Given the description of an element on the screen output the (x, y) to click on. 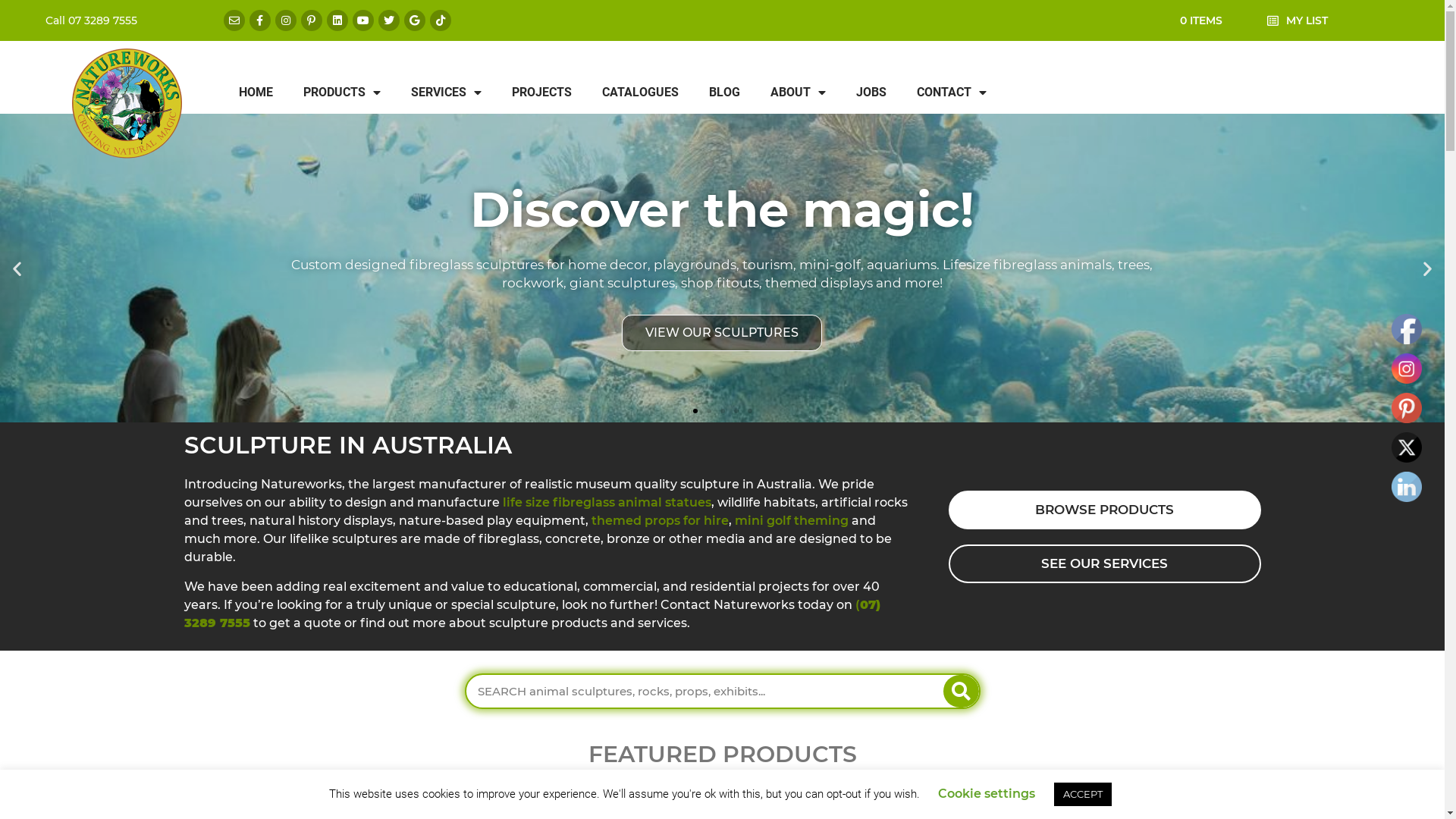
07) 3289 7555 Element type: text (531, 613)
mini golf theming Element type: text (790, 520)
PROJECTS Element type: text (541, 92)
CONTACT Element type: text (951, 92)
SEE OUR SERVICES Element type: text (1103, 563)
( Element type: text (857, 604)
ACCEPT Element type: text (1082, 794)
themed props for hire Element type: text (659, 520)
Facebook Element type: hover (1406, 328)
MY LIST Element type: text (1306, 20)
VIEW OUR SCULPTURES Element type: text (721, 332)
BROWSE PRODUCTS Element type: text (1103, 509)
0 ITEMS Element type: text (1200, 20)
life size fibreglass animal statues Element type: text (606, 502)
ABOUT Element type: text (797, 92)
LinkedIn Element type: hover (1406, 486)
Call 07 3289 7555 Element type: text (126, 20)
BLOG Element type: text (724, 92)
Instagram Element type: hover (1406, 368)
SERVICES Element type: text (445, 92)
Twitter Element type: hover (1406, 447)
HOME Element type: text (255, 92)
PRODUCTS Element type: text (341, 92)
CATALOGUES Element type: text (639, 92)
Pinterest Element type: hover (1406, 407)
JOBS Element type: text (870, 92)
Cookie settings Element type: text (986, 793)
